Given the description of an element on the screen output the (x, y) to click on. 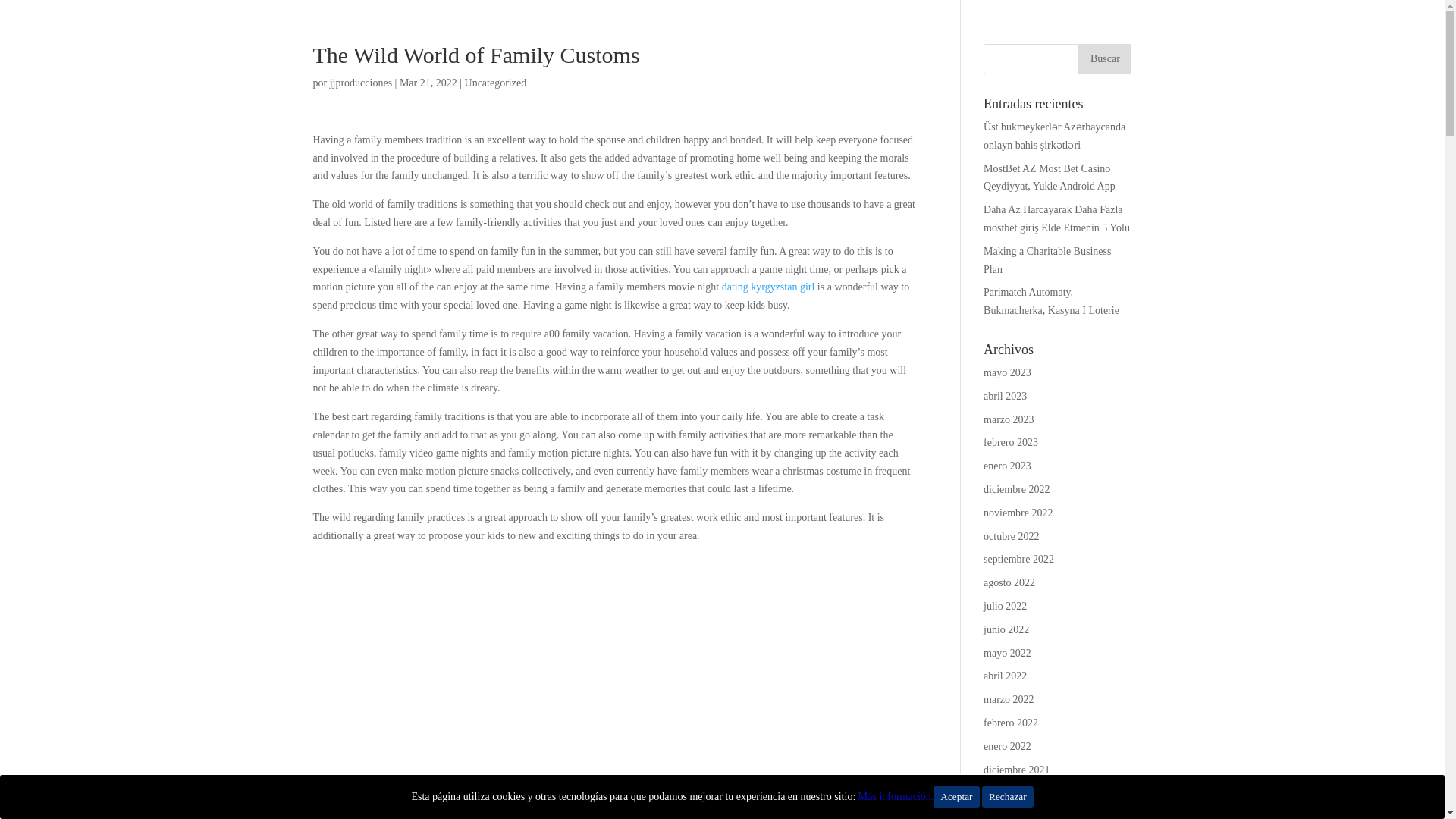
Buscar (1104, 59)
Mensajes de jjproducciones (360, 82)
diciembre 2022 (1016, 489)
mayo 2023 (1007, 372)
septiembre 2022 (1019, 559)
febrero 2023 (1011, 441)
octubre 2022 (1011, 536)
Uncategorized (495, 82)
Parimatch Automaty, Bukmacherka, Kasyna I Loterie (1051, 301)
jjproducciones (360, 82)
